Given the description of an element on the screen output the (x, y) to click on. 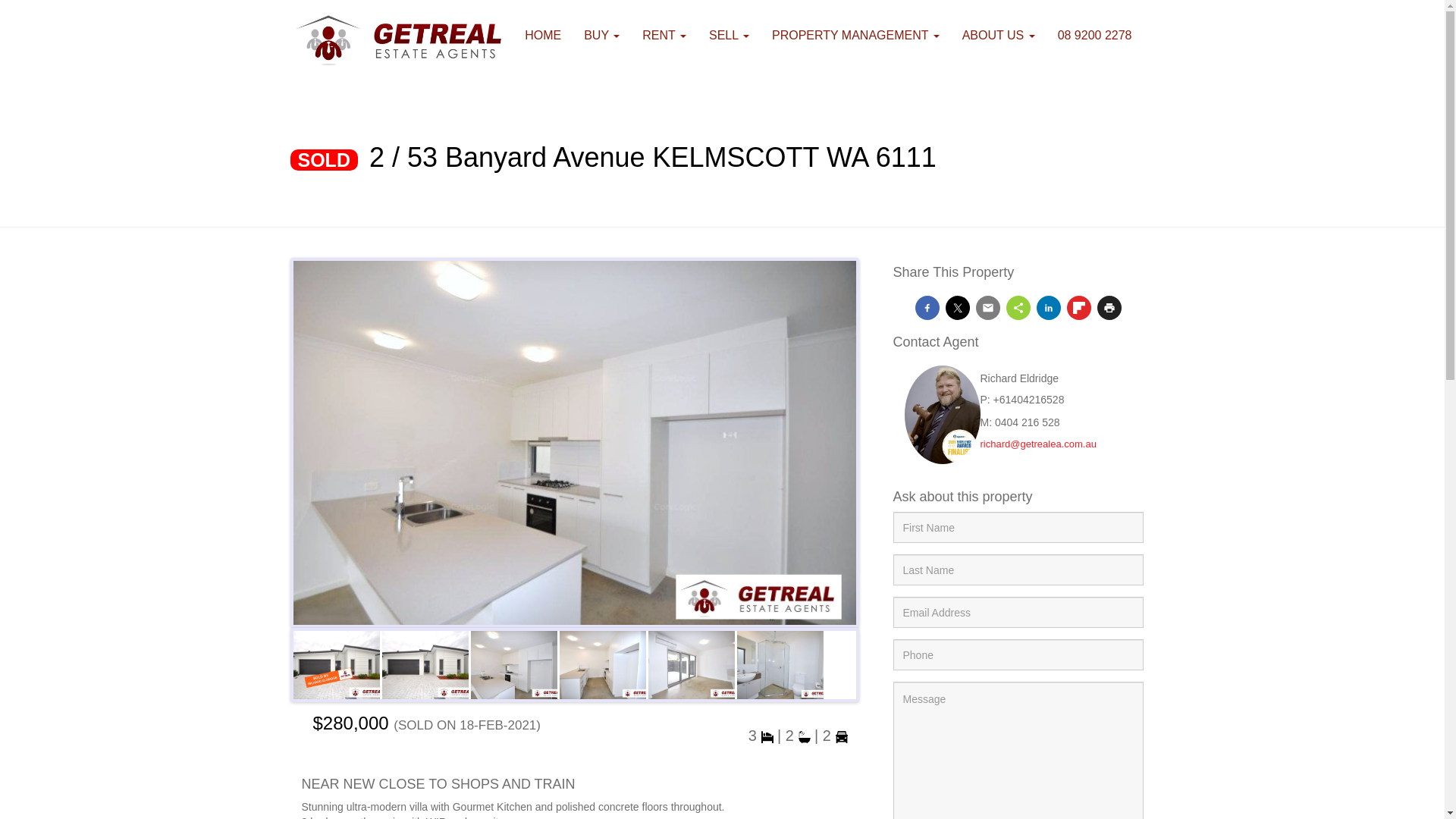
PROPERTY MANAGEMENT Element type: text (855, 35)
richard@getrealea.com.au Element type: text (1037, 443)
HOME Element type: text (542, 35)
BUY Element type: text (601, 35)
RENT Element type: text (663, 35)
SELL Element type: text (728, 35)
08 9200 2278 Element type: text (1094, 35)
ABOUT US Element type: text (998, 35)
